Given the description of an element on the screen output the (x, y) to click on. 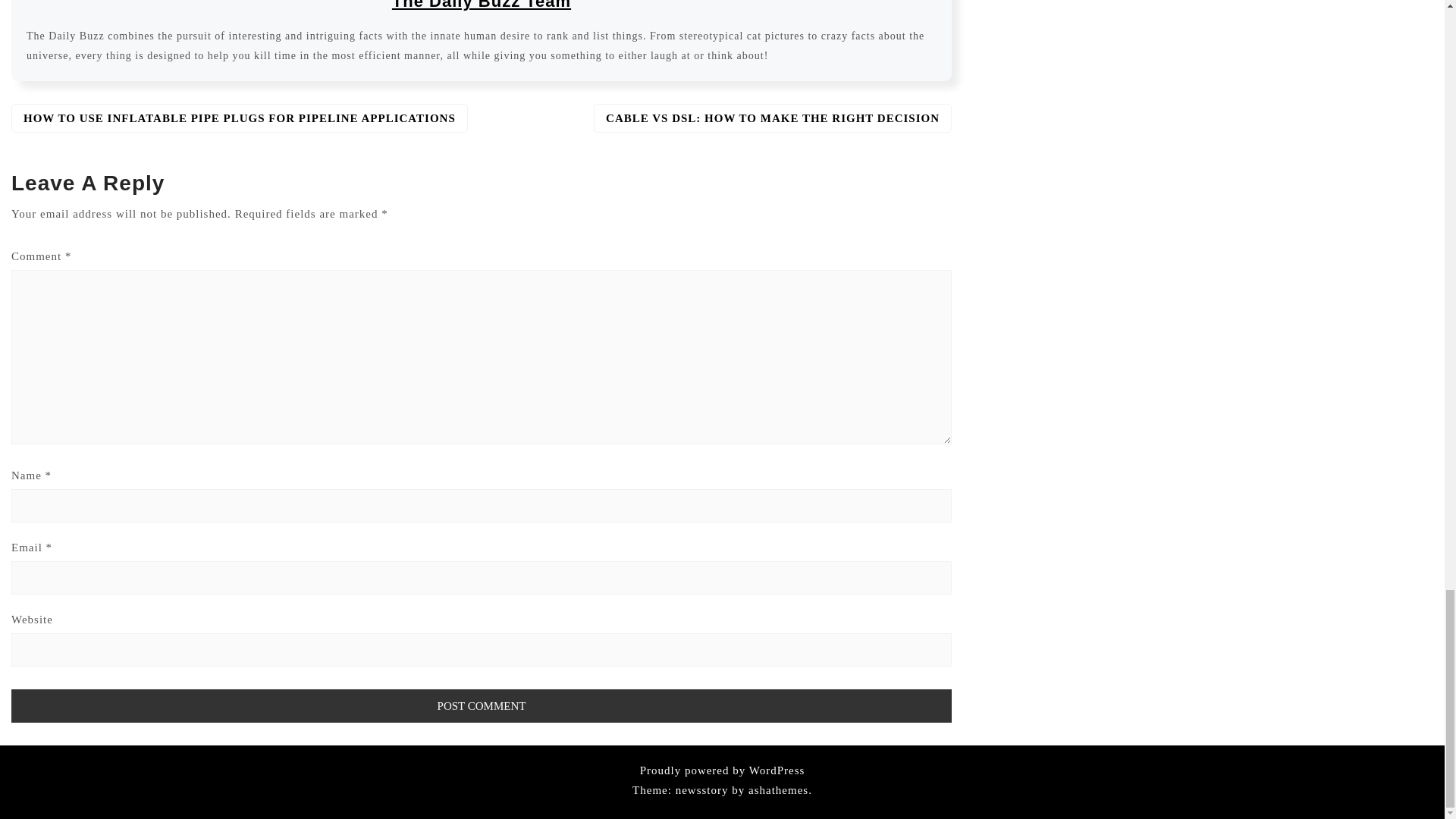
Post Comment (481, 705)
CABLE VS DSL: HOW TO MAKE THE RIGHT DECISION (773, 118)
HOW TO USE INFLATABLE PIPE PLUGS FOR PIPELINE APPLICATIONS (239, 118)
The Daily Buzz Team (480, 5)
Post Comment (481, 705)
